Given the description of an element on the screen output the (x, y) to click on. 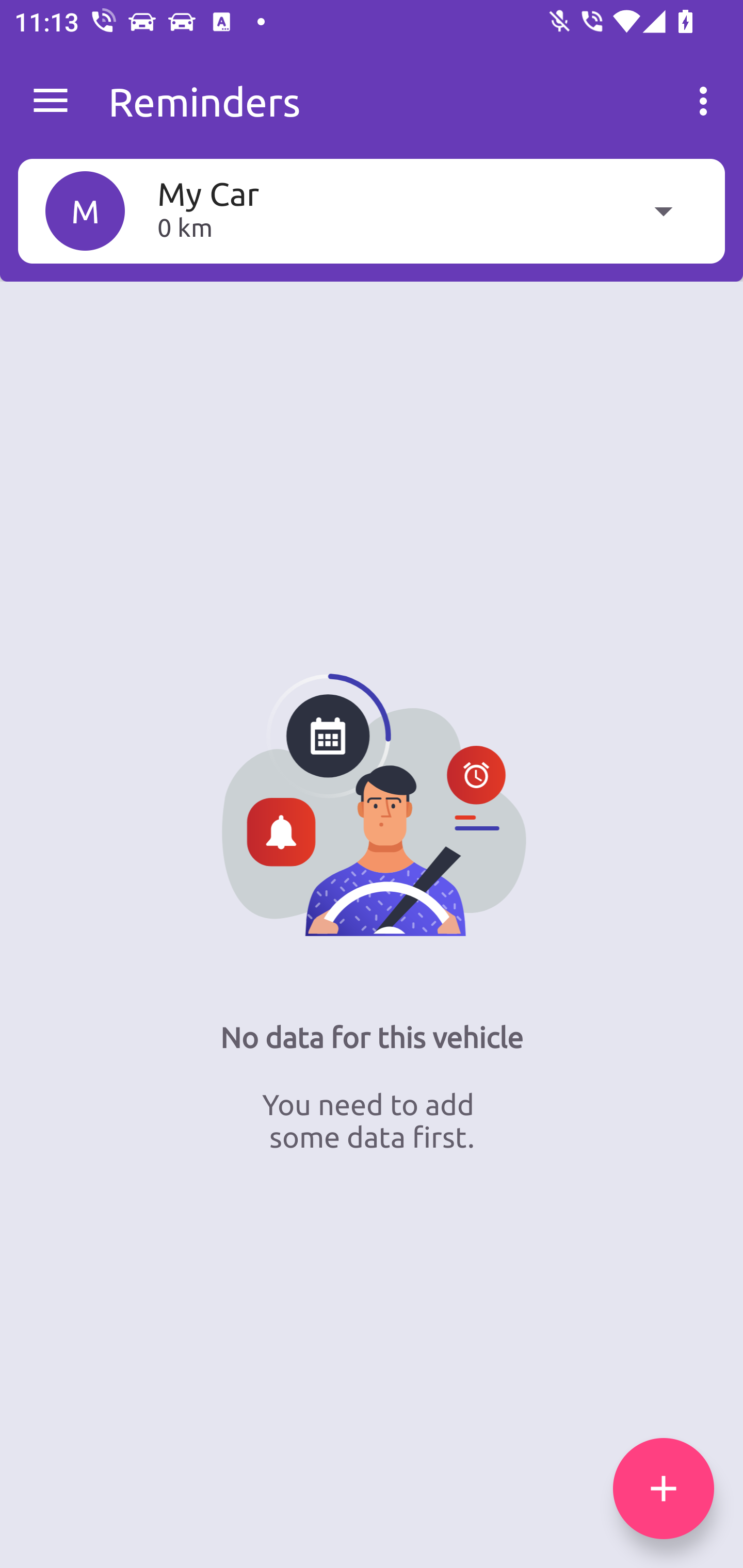
Fuelio (50, 101)
More options (706, 101)
M My Car 0 km (371, 210)
